Given the description of an element on the screen output the (x, y) to click on. 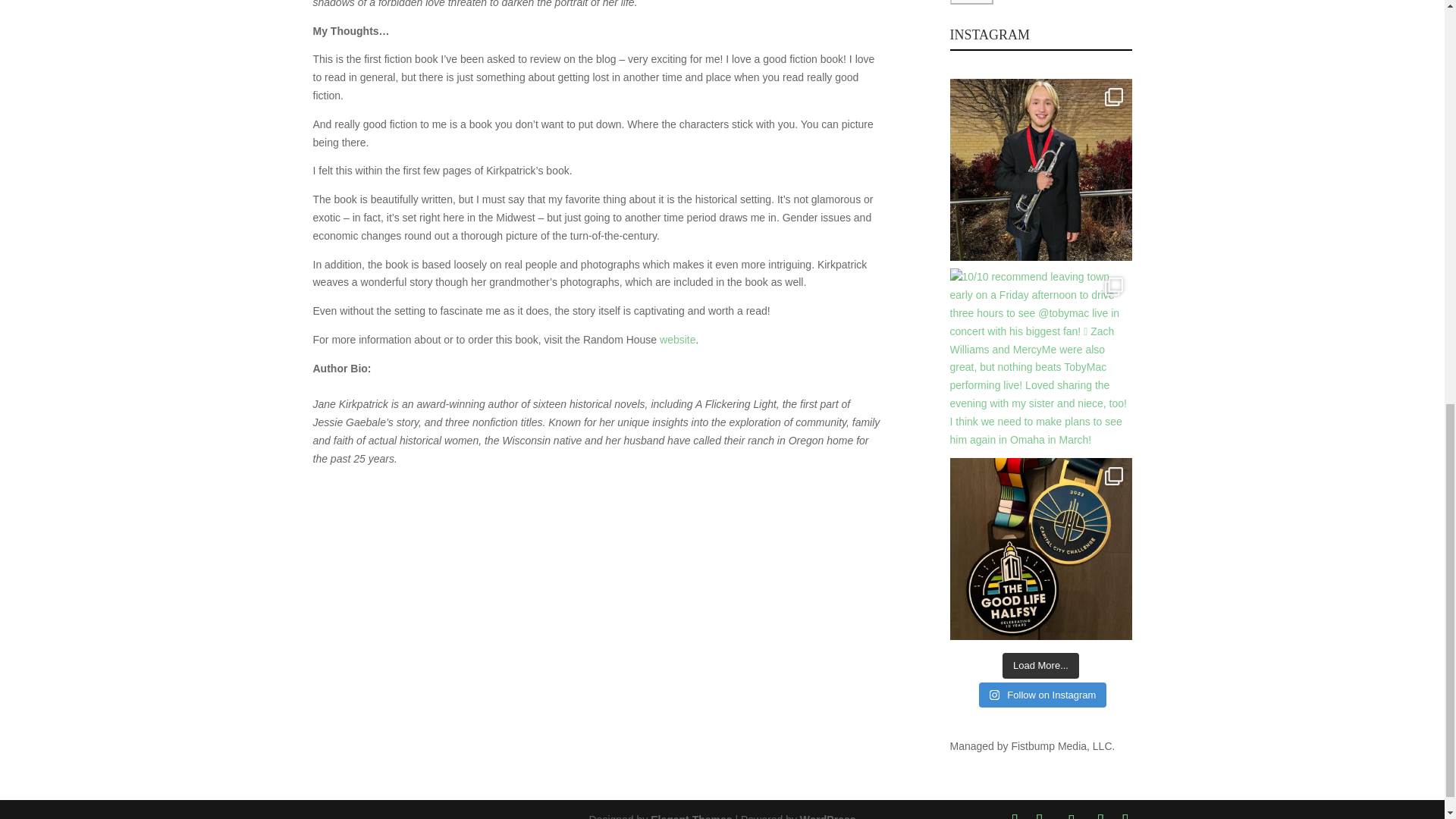
Submit (970, 2)
Premium WordPress Themes (691, 816)
